Given the description of an element on the screen output the (x, y) to click on. 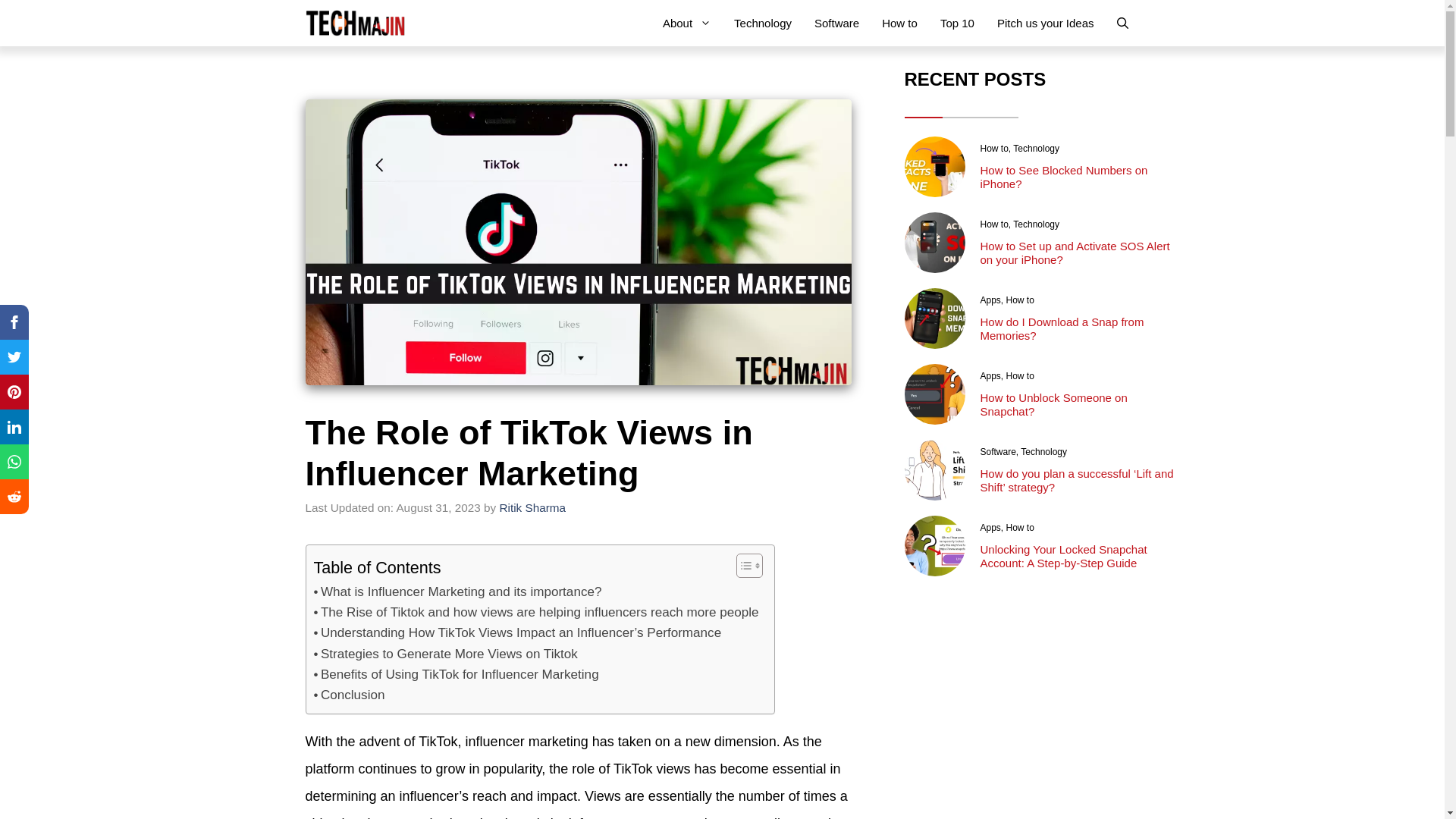
Benefits of Using TikTok for Influencer Marketing (456, 674)
View all posts by Ritik Sharma (532, 507)
Conclusion (349, 694)
How to (899, 22)
Strategies to Generate More Views on Tiktok (446, 653)
Pitch us your Ideas (1045, 22)
Tech Majin (354, 23)
Software (836, 22)
About (686, 22)
Strategies to Generate More Views on Tiktok (446, 653)
Technology (762, 22)
Advertisement (1040, 704)
Top 10 (956, 22)
What is Influencer Marketing and its importance? (458, 591)
